Given the description of an element on the screen output the (x, y) to click on. 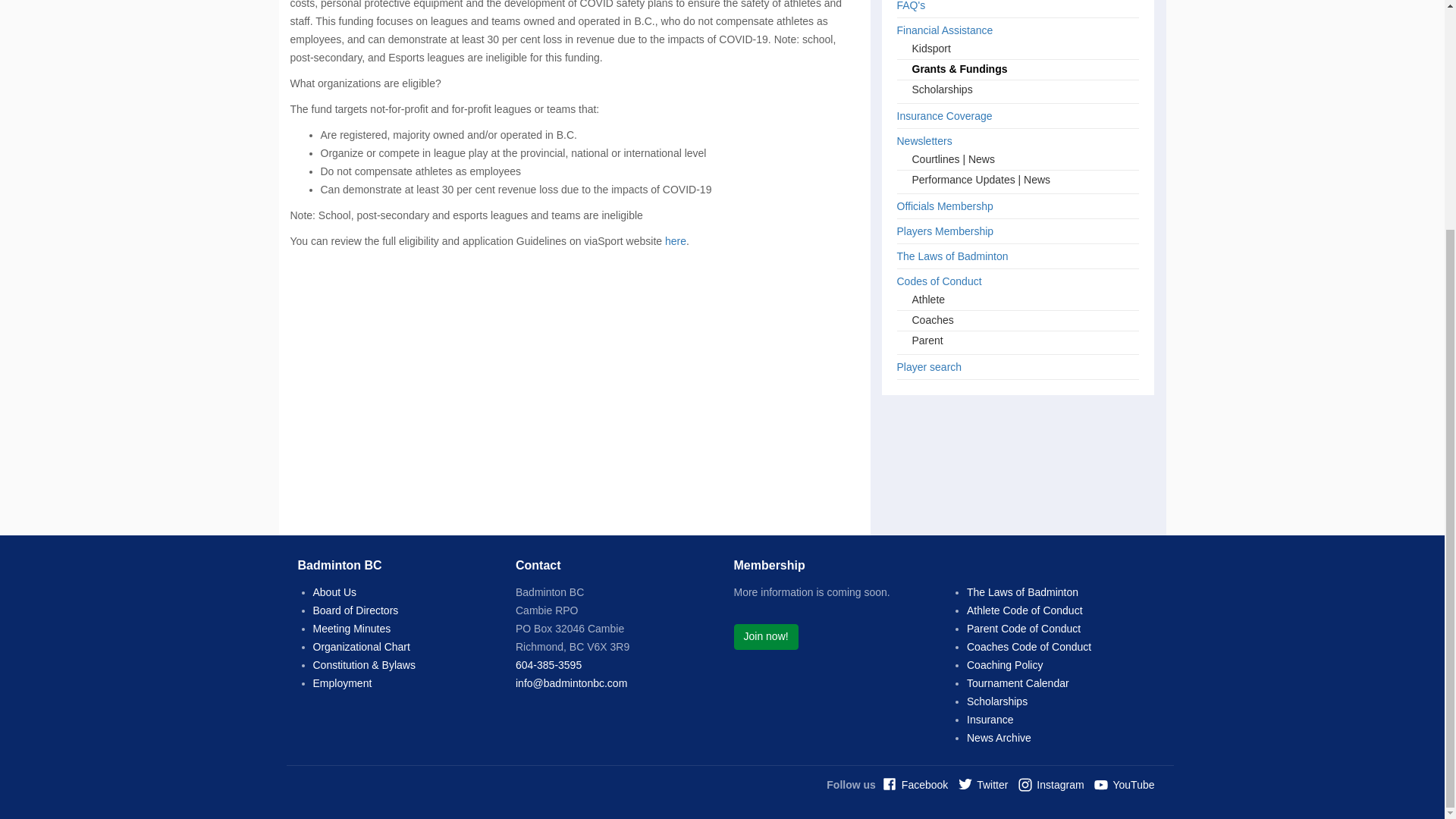
Twitter (982, 784)
Instagram (1050, 784)
YouTube (1124, 784)
Facebook (915, 784)
